Given the description of an element on the screen output the (x, y) to click on. 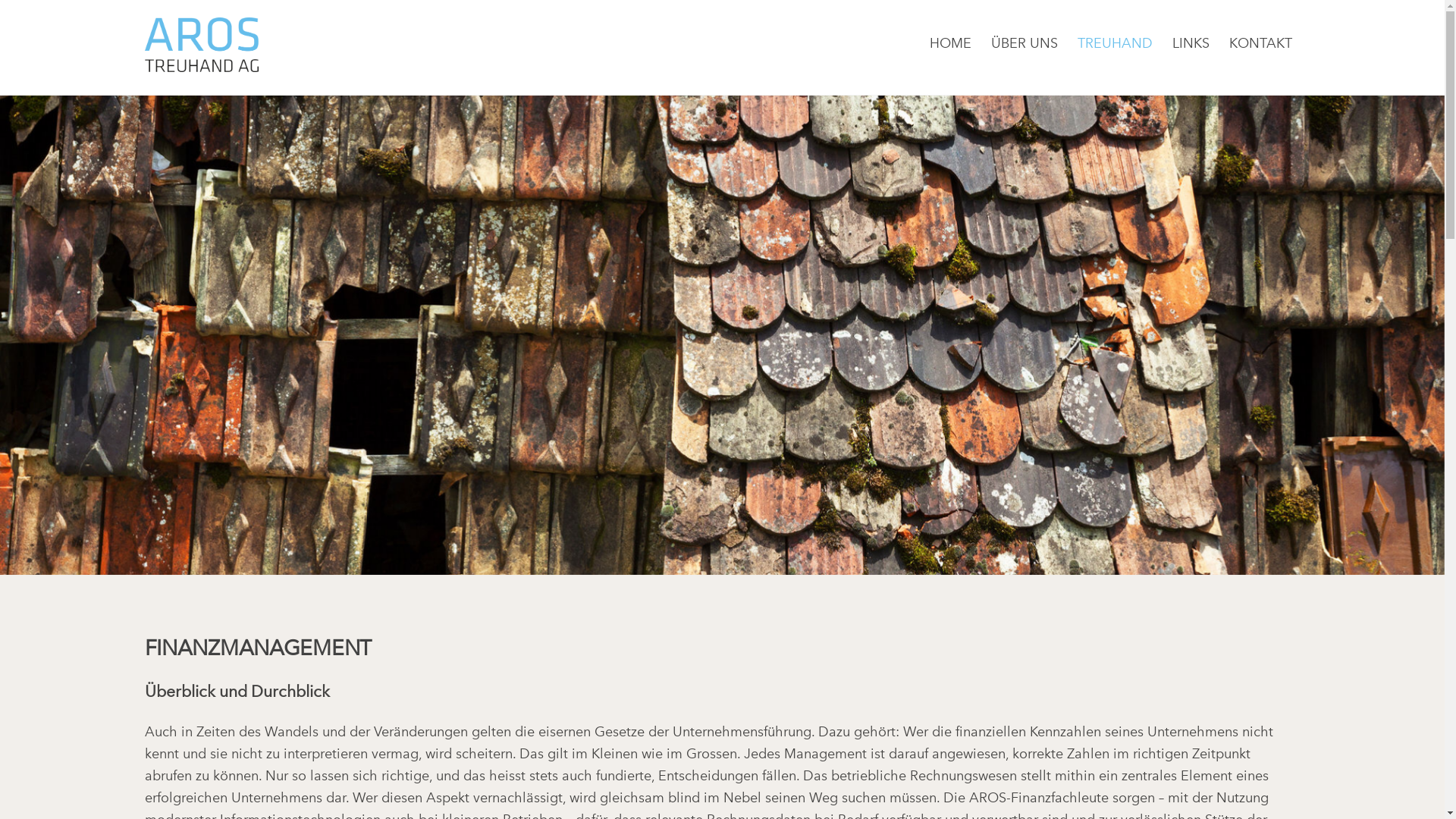
AROS Treuhand AG Element type: hover (200, 62)
KONTAKT Element type: text (1259, 43)
HOME Element type: text (950, 43)
TREUHAND Element type: text (1114, 43)
AROS Treuhand AG Element type: hover (200, 44)
LINKS Element type: text (1190, 43)
